Given the description of an element on the screen output the (x, y) to click on. 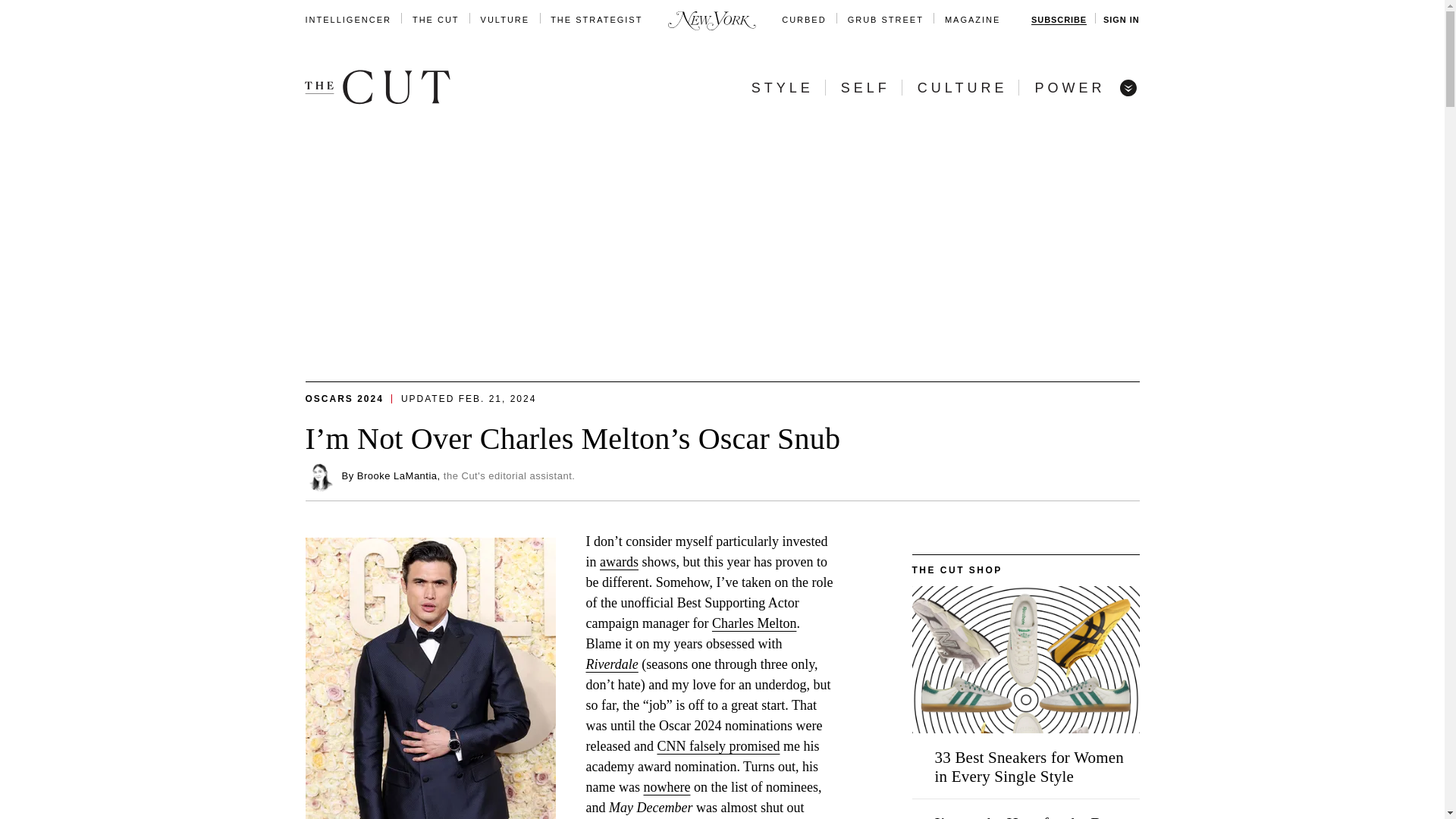
CURBED (803, 19)
SIGN IN (1120, 19)
SUBSCRIBE (1058, 19)
Menu (1127, 87)
INTELLIGENCER (347, 19)
THE CUT (436, 19)
CULTURE (962, 87)
STYLE (782, 87)
VULTURE (504, 19)
GRUB STREET (885, 19)
MAGAZINE (972, 19)
SELF (865, 87)
POWER (1069, 87)
THE STRATEGIST (596, 19)
